Given the description of an element on the screen output the (x, y) to click on. 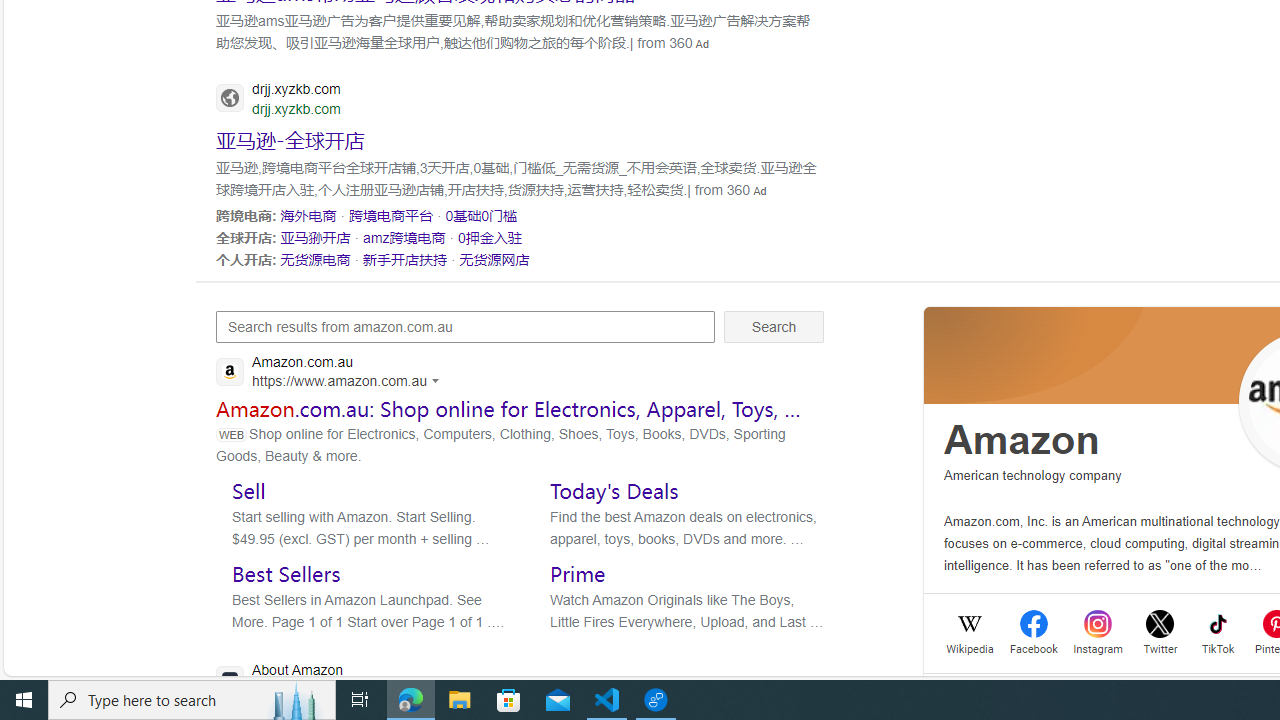
Today's Deals (614, 489)
SERP,5572 (315, 259)
Sell (248, 489)
Prime (577, 573)
Amazon (1021, 440)
SERP,5568 (481, 215)
SERP,5574 (494, 259)
Wikipedia (969, 646)
SERP,5564 (290, 138)
Search (774, 326)
Global web icon (229, 679)
